Given the description of an element on the screen output the (x, y) to click on. 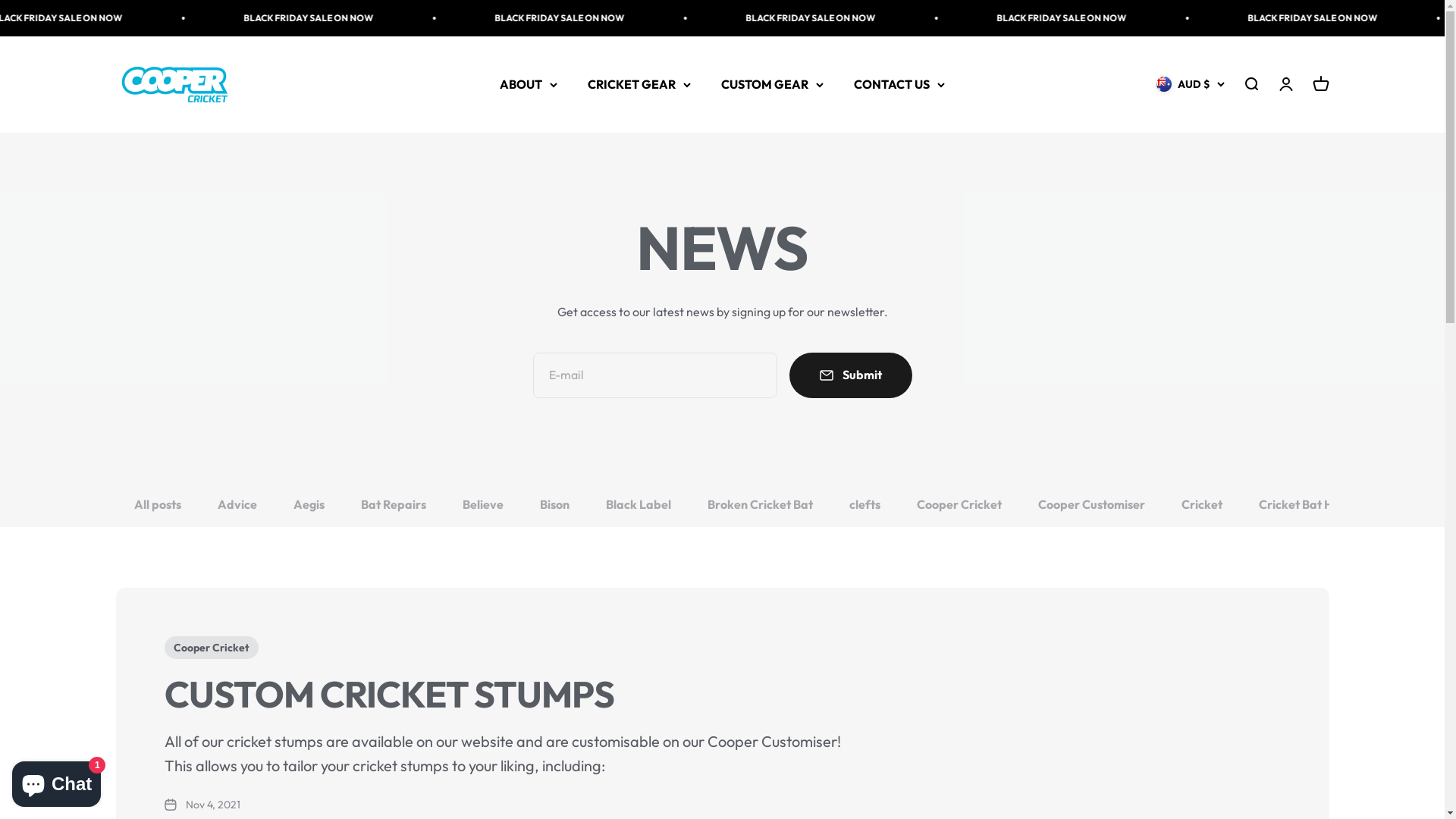
Cricket Element type: text (1201, 505)
BLACK FRIDAY SALE ON NOW Element type: text (523, 17)
BLACK FRIDAY SALE ON NOW Element type: text (772, 17)
Open cart
0 Element type: text (1319, 84)
Cooper Cricket Element type: text (958, 505)
Broken Cricket Bat Element type: text (759, 505)
CUSTOM CRICKET STUMPS Element type: text (388, 693)
Submit Element type: text (849, 375)
Cricket Bat Handles Element type: text (1314, 505)
Black Label Element type: text (637, 505)
Cooper Customiser Element type: text (1090, 505)
Open account page Element type: text (1285, 84)
BLACK FRIDAY SALE ON NOW Element type: text (273, 17)
All posts Element type: text (156, 505)
clefts Element type: text (864, 505)
Advice Element type: text (236, 505)
BLACK FRIDAY SALE ON NOW Element type: text (1272, 17)
Shopify online store chat Element type: hover (56, 780)
Believe Element type: text (482, 505)
BLACK FRIDAY SALE ON NOW Element type: text (1022, 17)
Bison Element type: text (554, 505)
AUD $ Element type: text (1189, 84)
Aegis Element type: text (308, 505)
Open search Element type: text (1250, 84)
Cooper Cricket Element type: text (173, 84)
Bat Repairs Element type: text (393, 505)
